Given the description of an element on the screen output the (x, y) to click on. 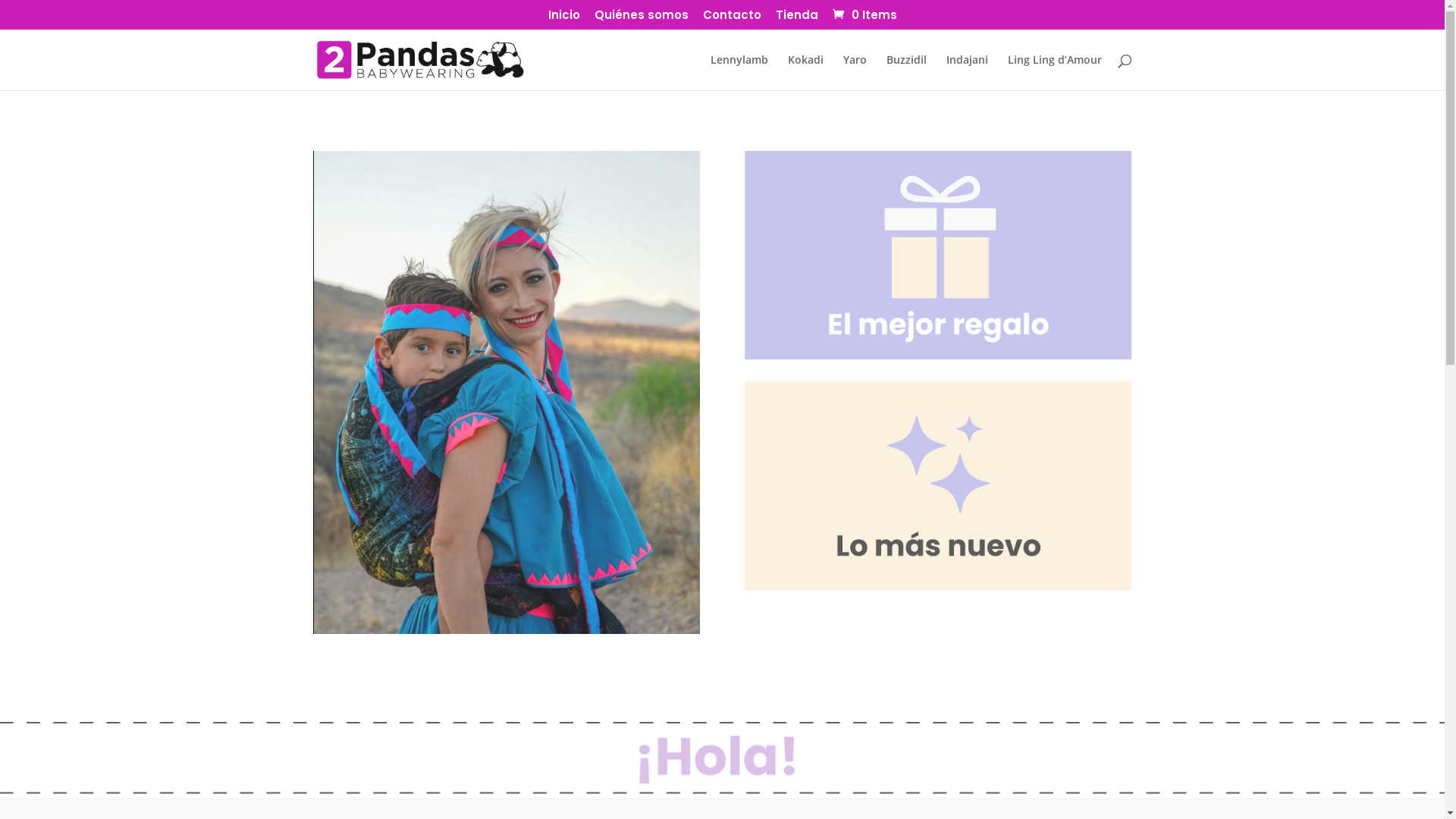
Inicio Element type: text (563, 18)
Kokadi Element type: text (804, 72)
Tienda Element type: text (796, 18)
Yaro Element type: text (854, 72)
0 Items Element type: text (863, 14)
Contacto Element type: text (731, 18)
Buzzidil Element type: text (905, 72)
Indajani Element type: text (967, 72)
Lennylamb Element type: text (738, 72)
